Given the description of an element on the screen output the (x, y) to click on. 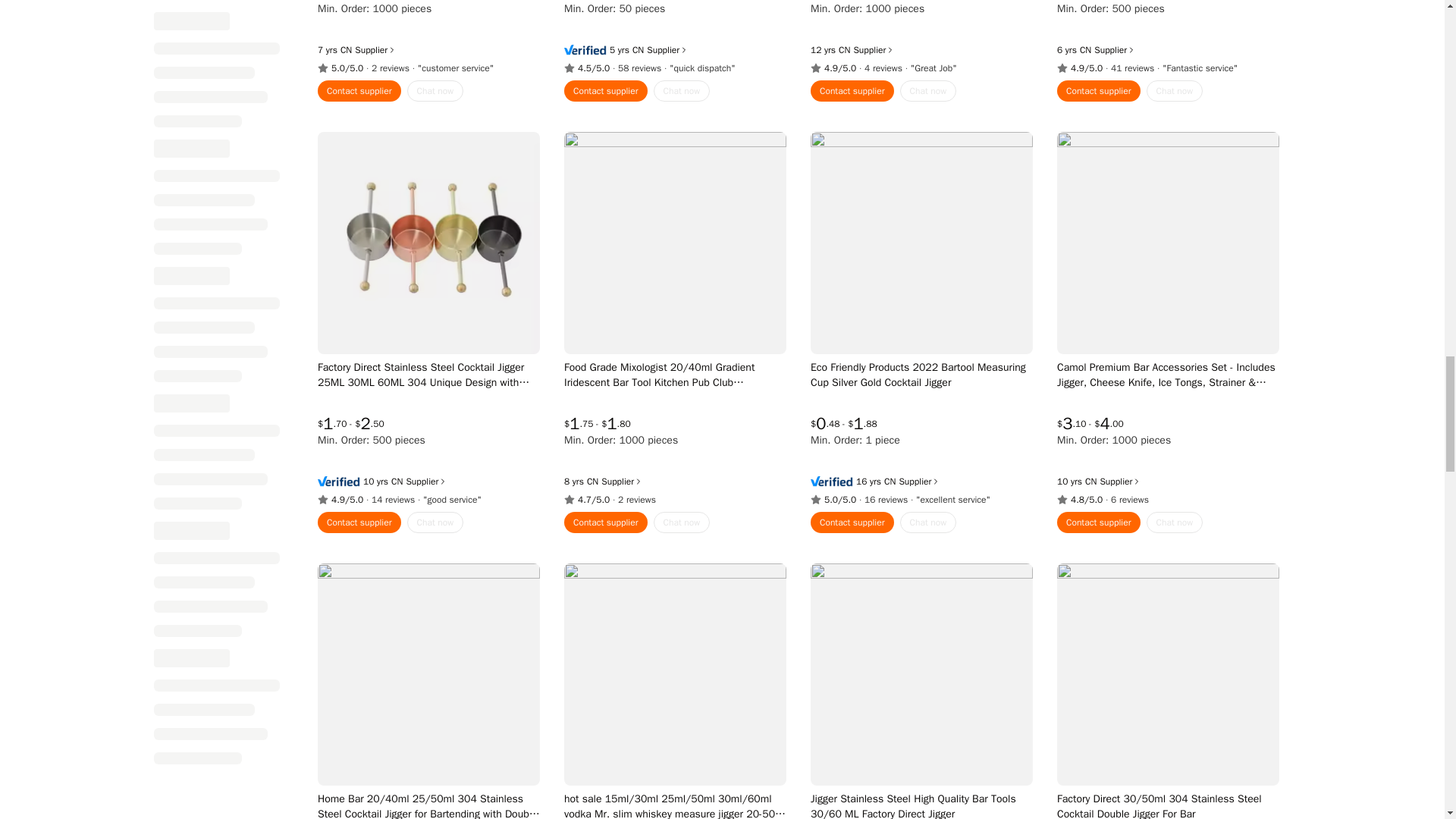
Kingskong Gift Industry Firm Qingtian (844, 28)
Guangdong Tianxing Hardware Industry Co., Ltd. (637, 28)
Yongkang Heybetter Cup Co., Ltd. (1084, 28)
